Given the description of an element on the screen output the (x, y) to click on. 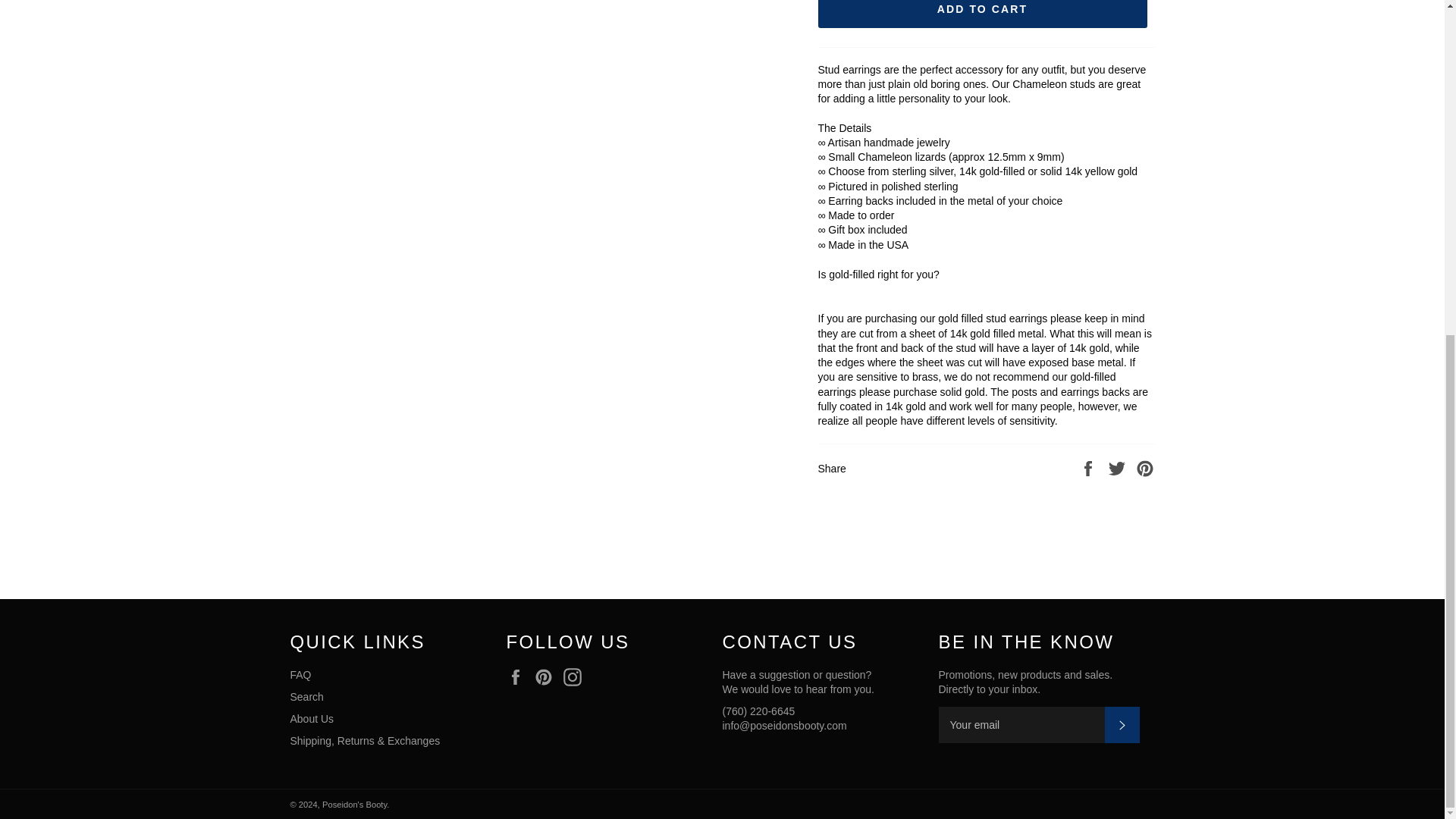
Share on Facebook (1089, 467)
Tweet on Twitter (1118, 467)
Poseidon's Booty on Facebook (519, 677)
Poseidon's Booty on Instagram (576, 677)
Pin on Pinterest (1144, 467)
Poseidon's Booty on Pinterest (547, 677)
